Given the description of an element on the screen output the (x, y) to click on. 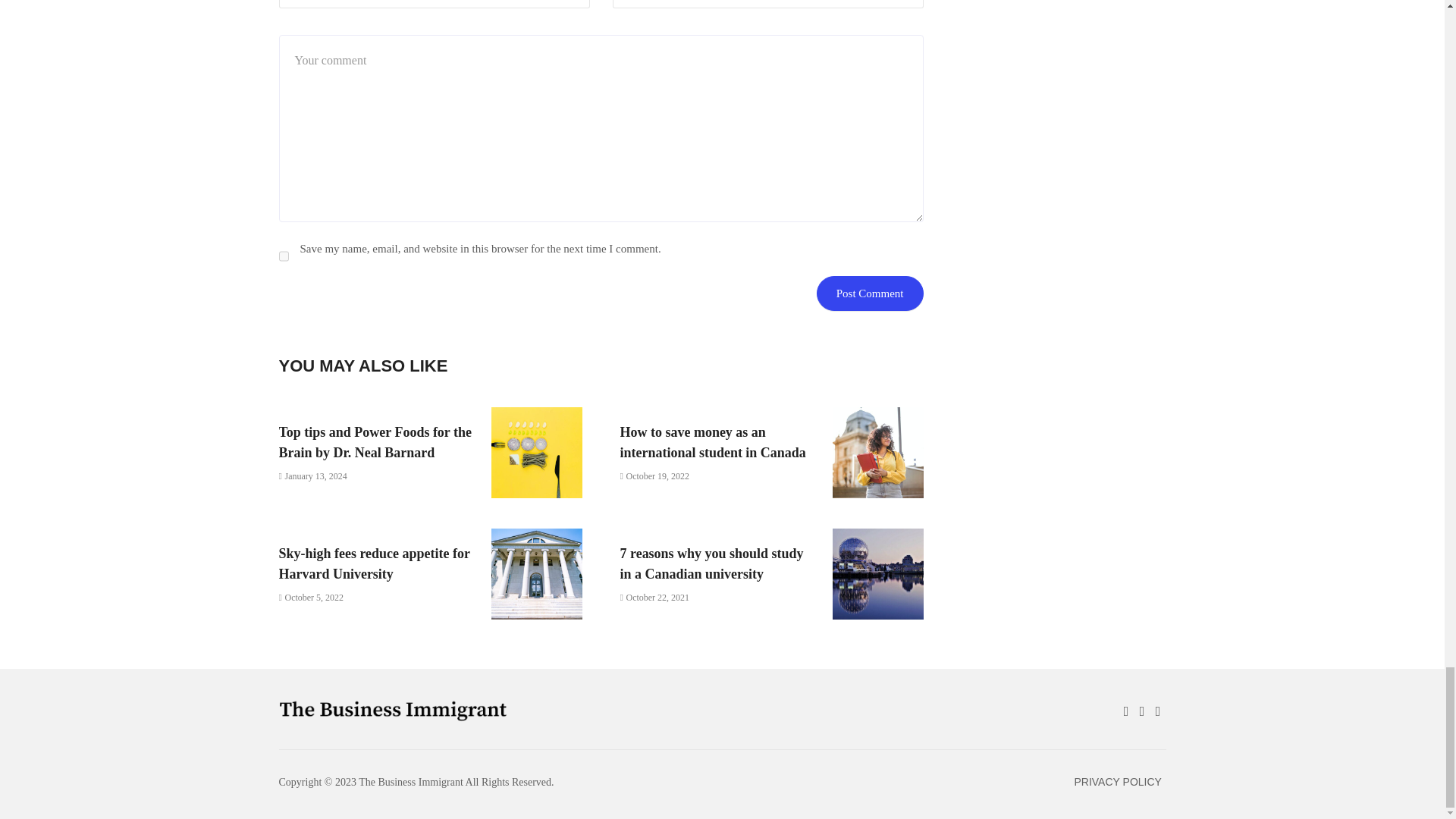
October 19, 2022 at 6:59 am (655, 475)
January 13, 2024 at 7:36 pm (313, 475)
Post Comment (869, 293)
